Given the description of an element on the screen output the (x, y) to click on. 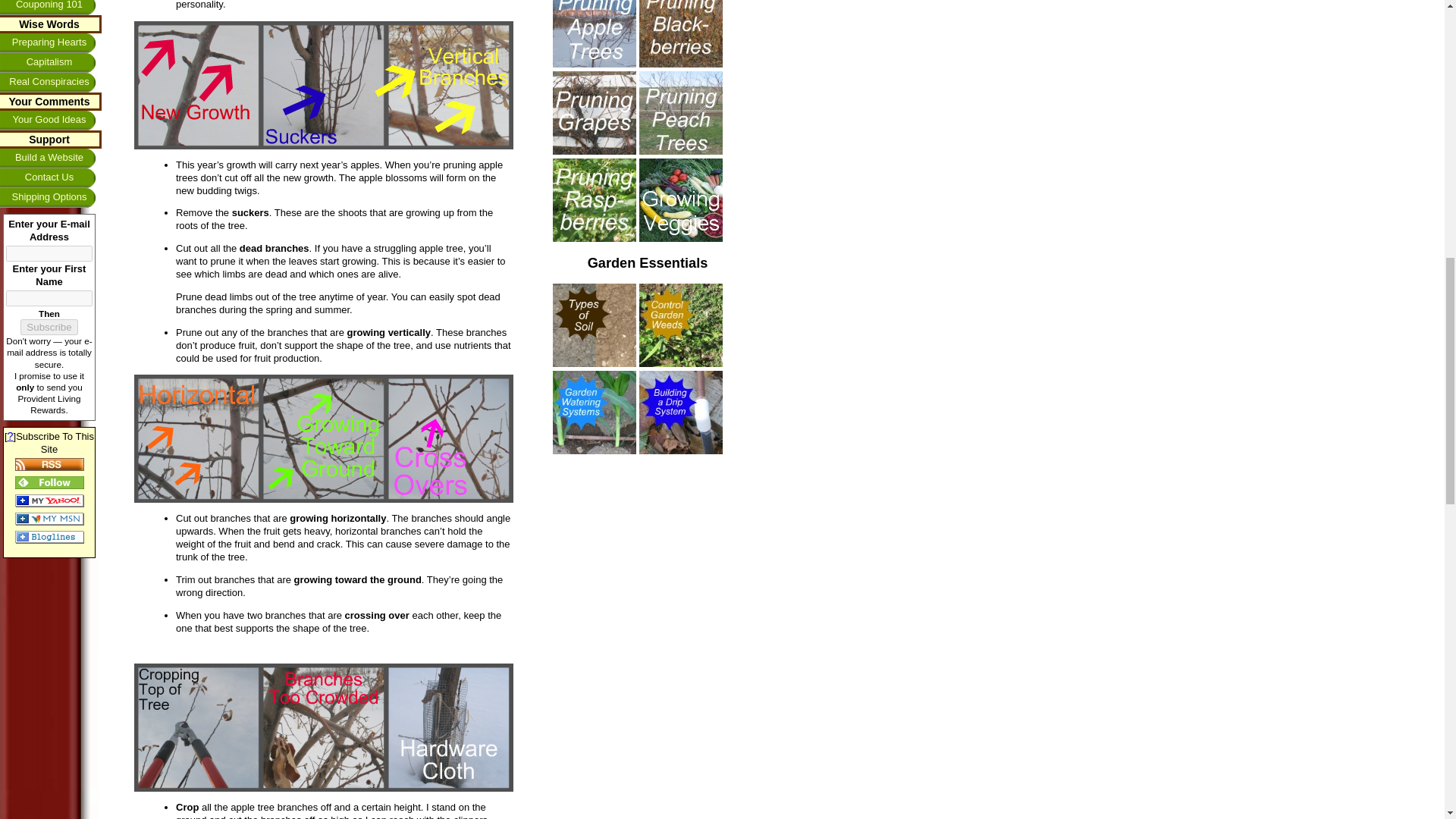
Pruning Apple Trees Pictures 2 (323, 85)
Build a Website (50, 158)
Pruning Apple Trees Pictures 3 (323, 438)
Subscribe (48, 326)
Contact Us (50, 178)
Your Good Ideas (50, 120)
Pruning Apple Trees Pictures 4 (323, 727)
Capitalism (50, 62)
Real Conspiracies (50, 82)
Couponing 101 (50, 7)
Shipping Options (50, 198)
Preparing Hearts (50, 43)
